Given the description of an element on the screen output the (x, y) to click on. 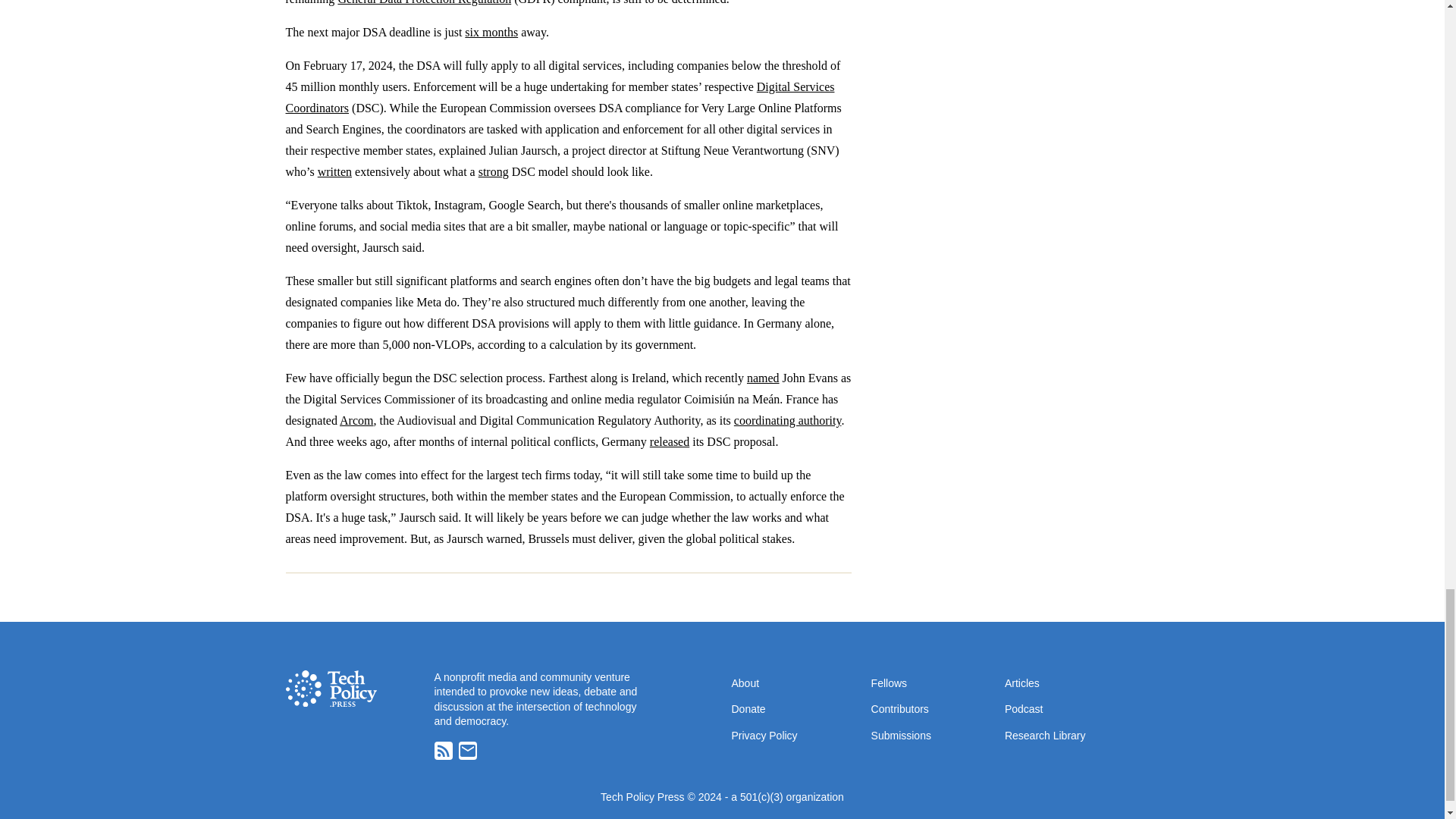
Digital Services Coordinators (559, 97)
strong (493, 171)
General Data Protection Regulation (424, 2)
named (762, 377)
written (334, 171)
Arcom (355, 420)
coordinating authority (787, 420)
six months (491, 31)
